Given the description of an element on the screen output the (x, y) to click on. 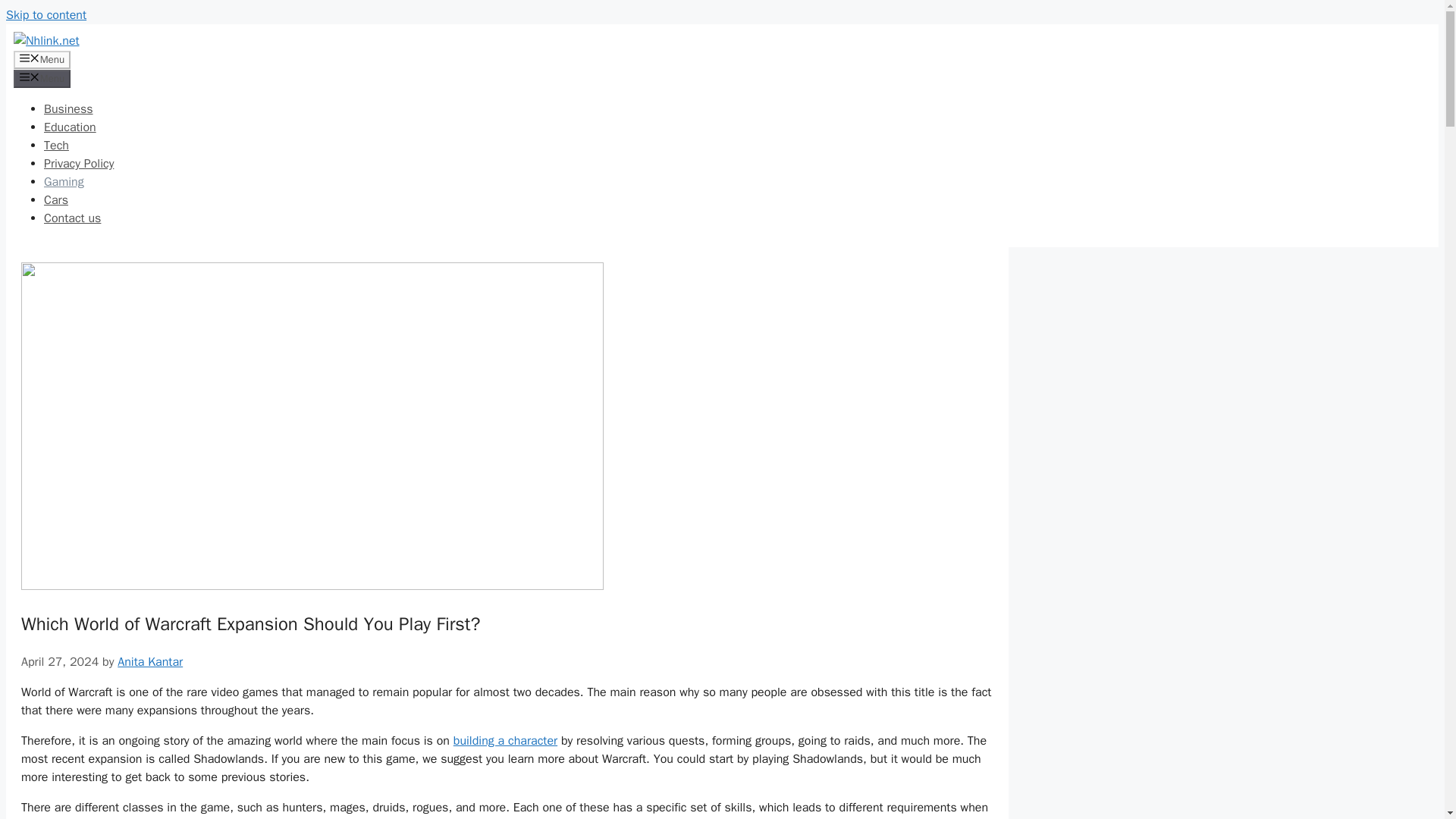
Tech (55, 145)
Anita Kantar (150, 661)
Contact us (71, 218)
Menu (41, 59)
Skip to content (45, 14)
building a character (504, 740)
Education (69, 127)
Privacy Policy (78, 163)
Skip to content (45, 14)
Menu (41, 78)
